Given the description of an element on the screen output the (x, y) to click on. 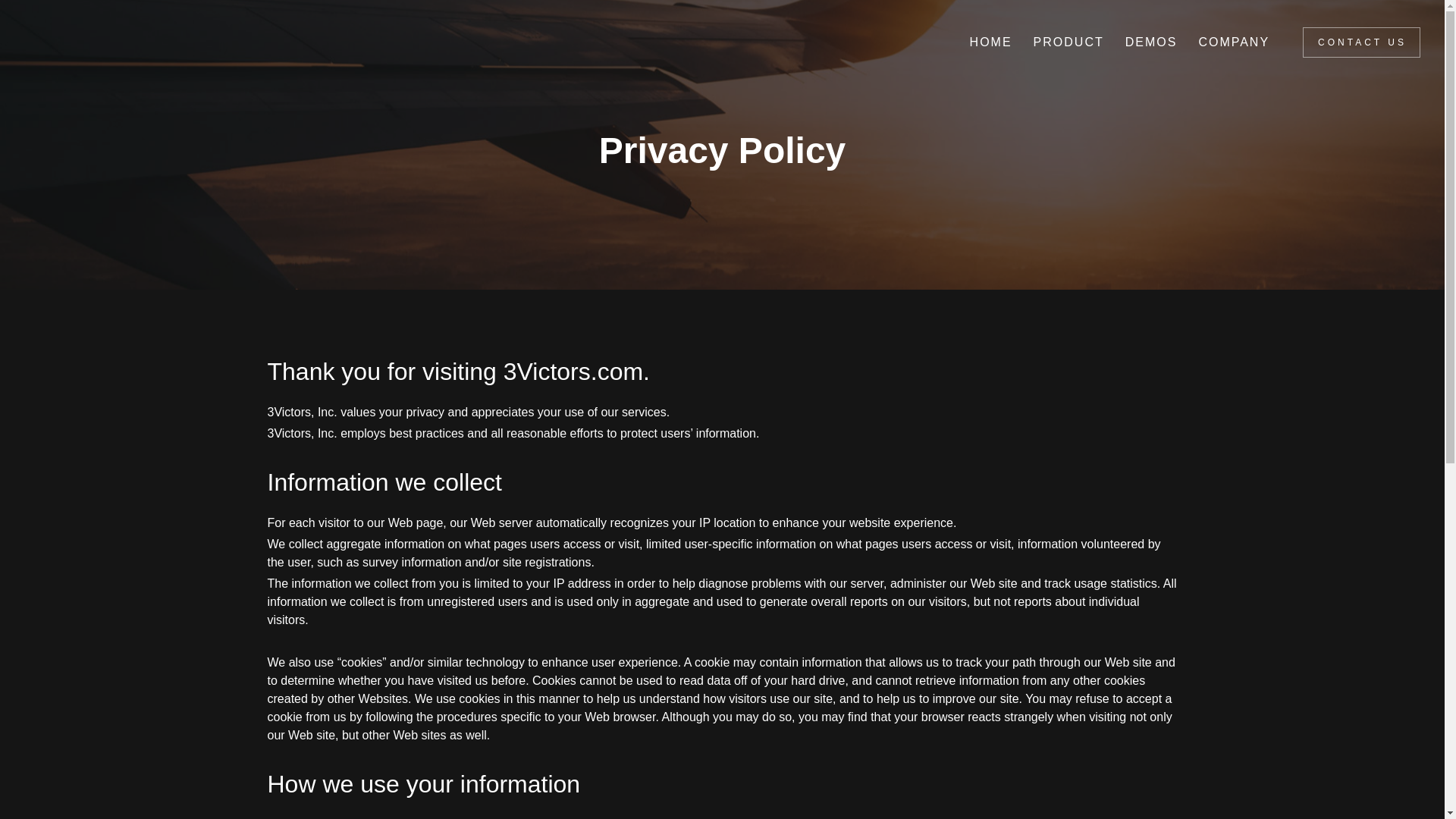
CONTACT US Element type: text (1361, 42)
PRODUCT Element type: text (1067, 42)
DEMOS Element type: text (1149, 42)
HOME Element type: text (989, 42)
